Given the description of an element on the screen output the (x, y) to click on. 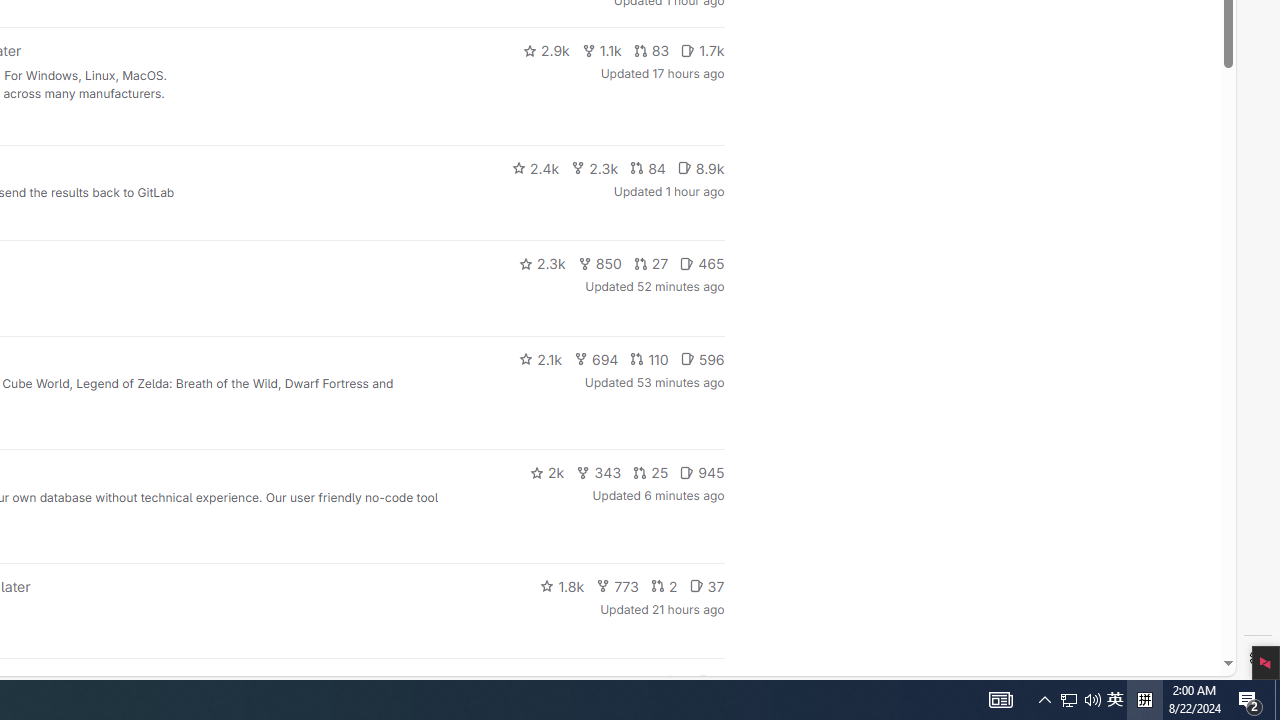
1.4k (573, 681)
1.7k (702, 50)
27 (651, 263)
773 (618, 585)
2 (664, 585)
84 (647, 167)
Class: s14 gl-mr-2 (704, 681)
110 (649, 358)
2k (546, 472)
2.9k (545, 50)
1.1k (601, 50)
2.3k (541, 263)
465 (701, 263)
8.9k (700, 167)
